Given the description of an element on the screen output the (x, y) to click on. 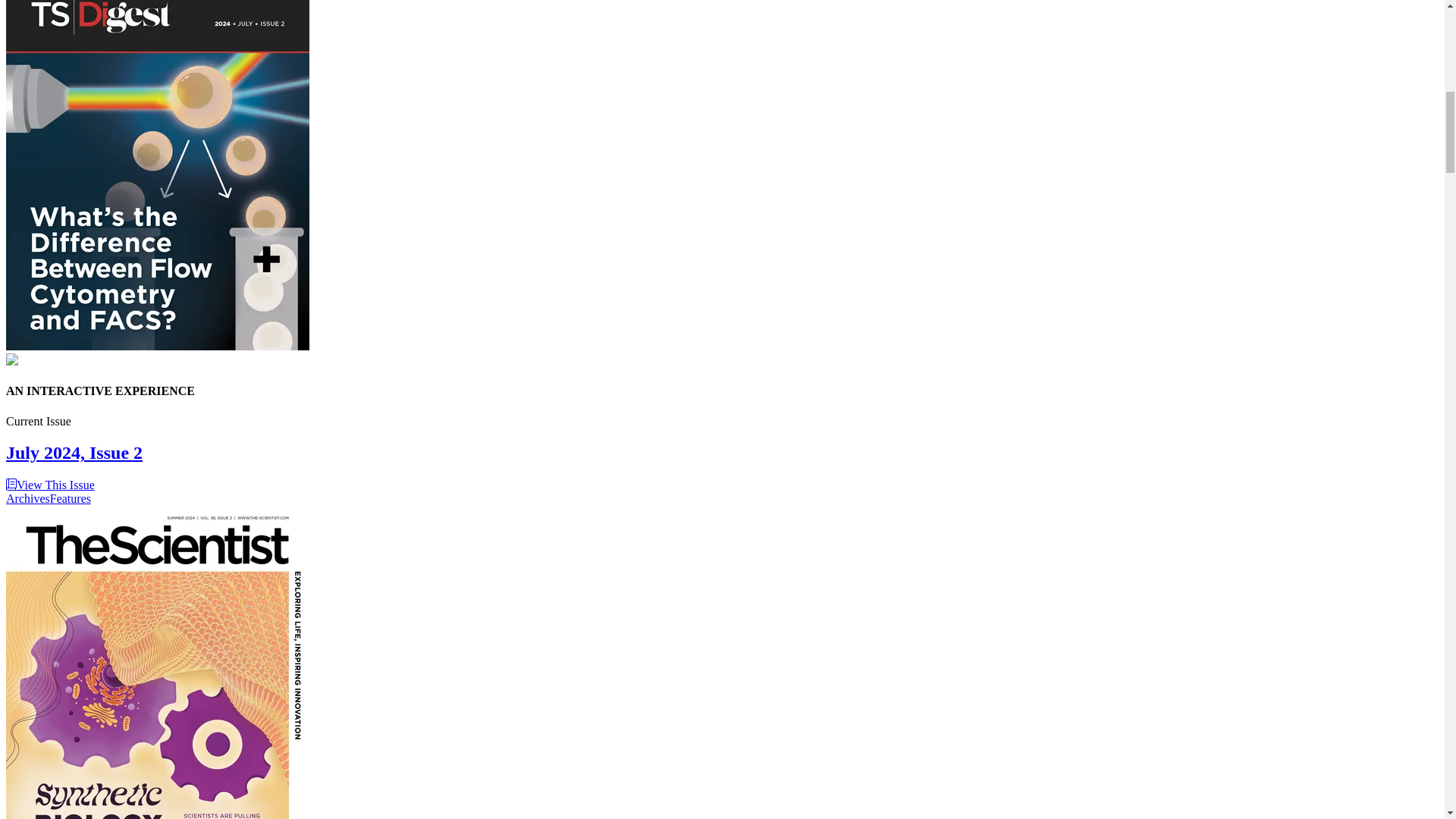
The Scientist's 2024 summer issue cover (156, 662)
